Given the description of an element on the screen output the (x, y) to click on. 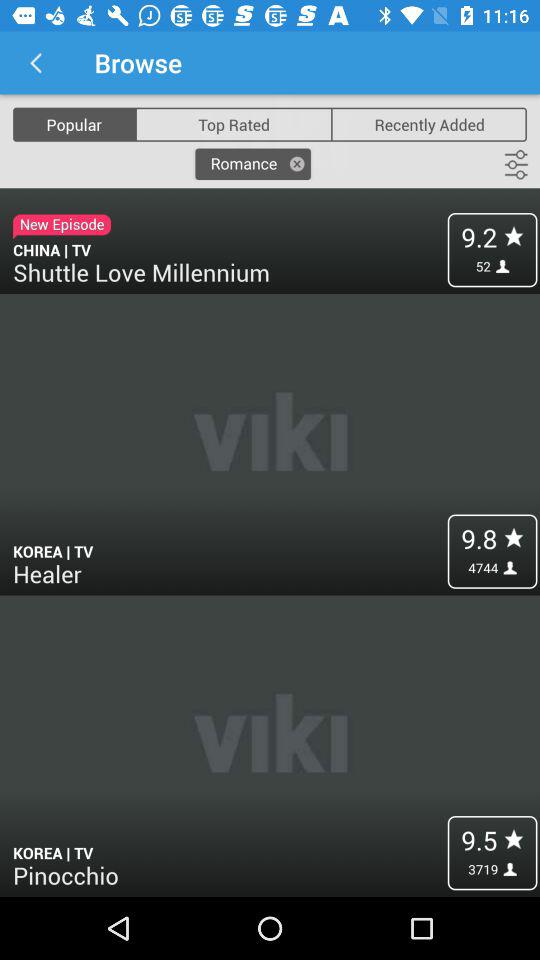
turn off the top rated icon (233, 124)
